Given the description of an element on the screen output the (x, y) to click on. 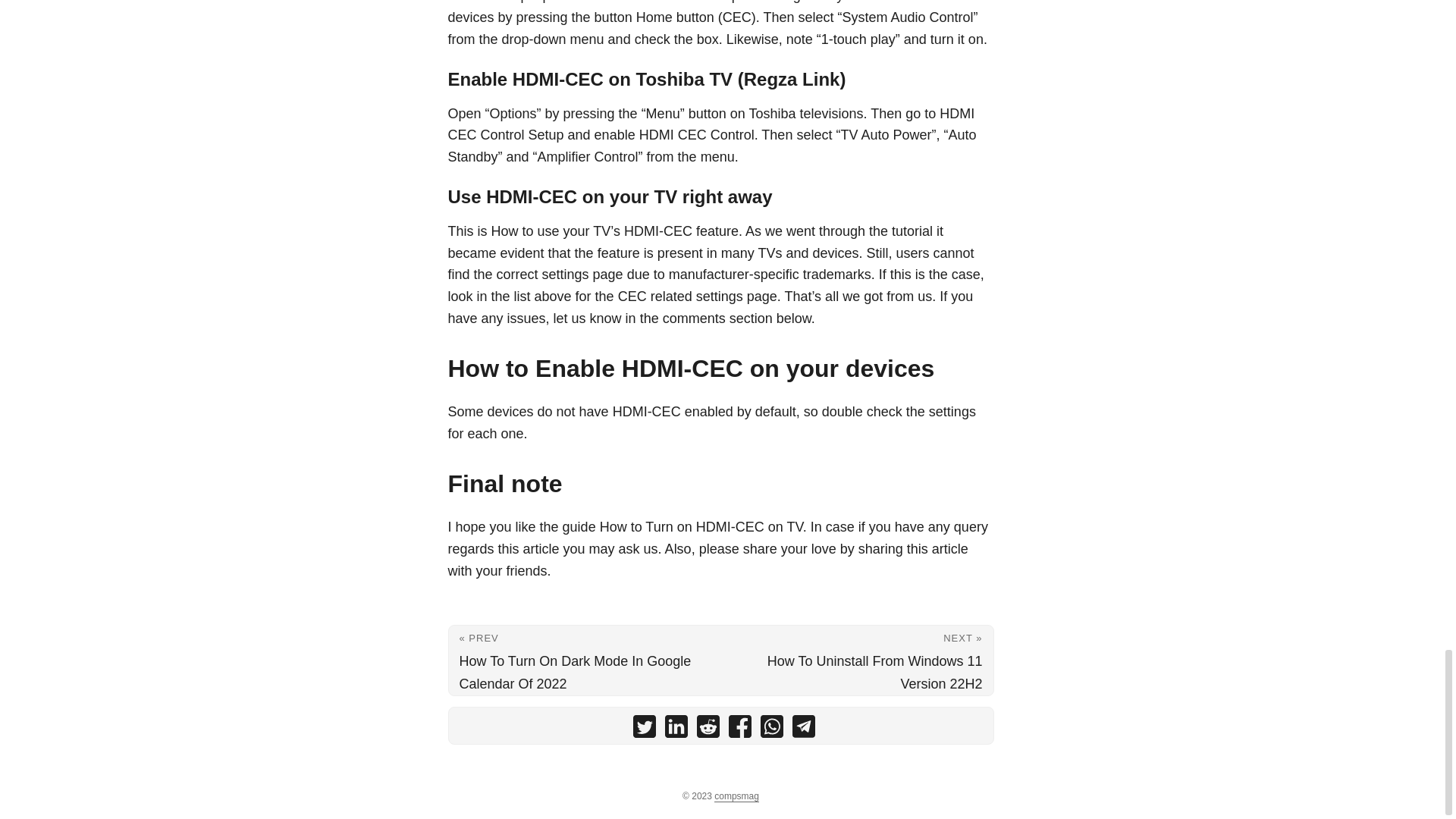
compsmag (736, 796)
